Given the description of an element on the screen output the (x, y) to click on. 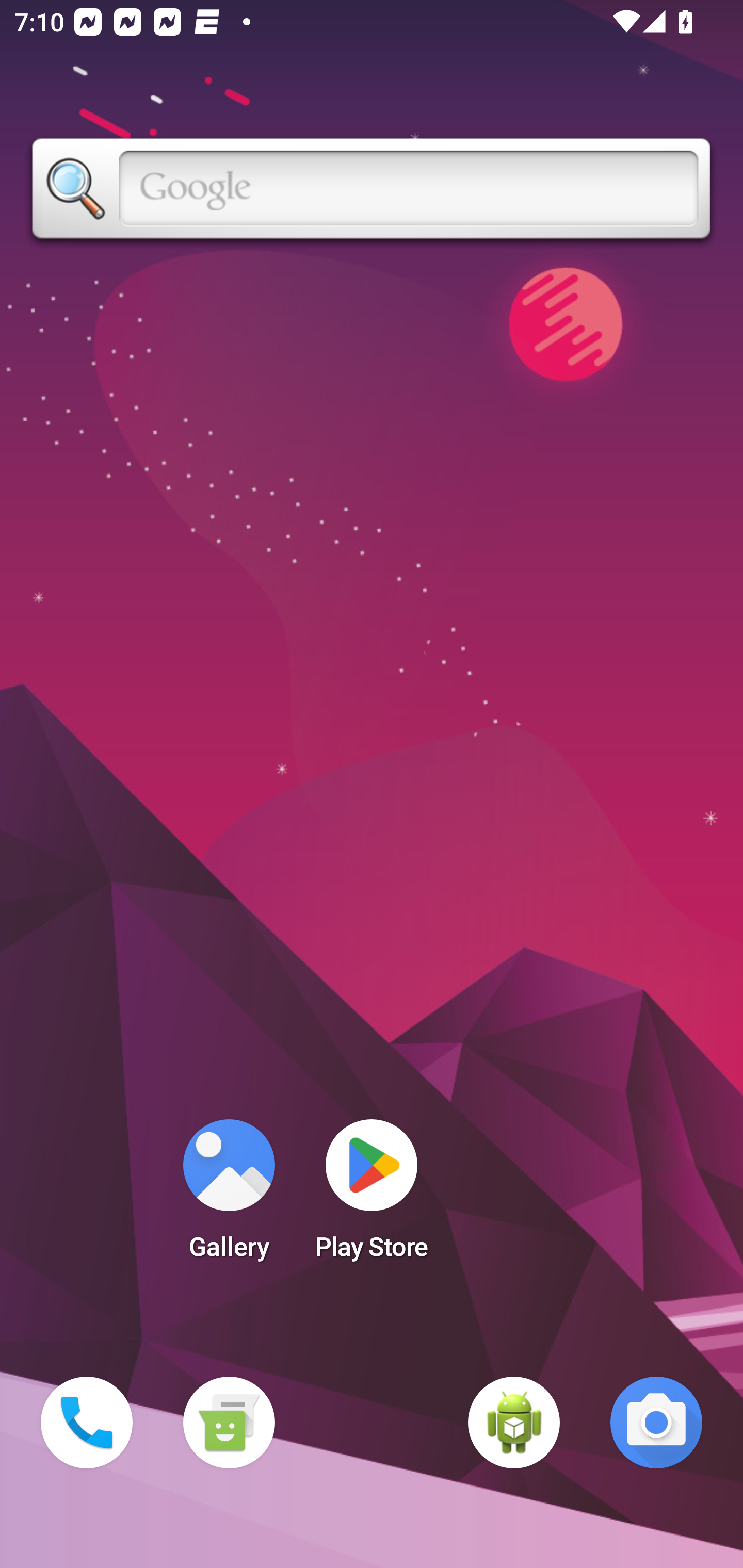
Gallery (228, 1195)
Play Store (371, 1195)
Phone (86, 1422)
Messaging (228, 1422)
WebView Browser Tester (513, 1422)
Camera (656, 1422)
